Given the description of an element on the screen output the (x, y) to click on. 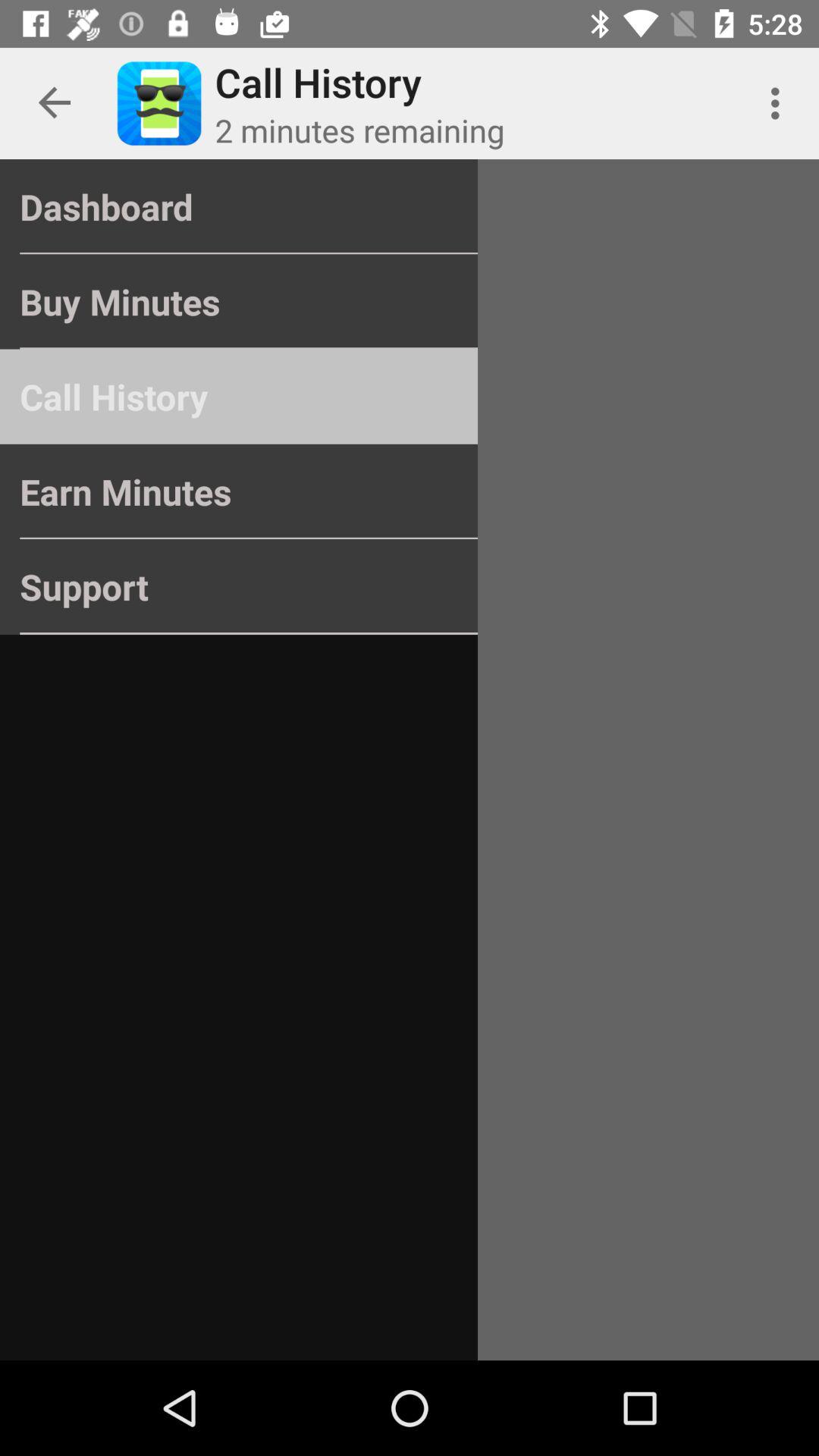
jump to the buy minutes item (238, 301)
